Given the description of an element on the screen output the (x, y) to click on. 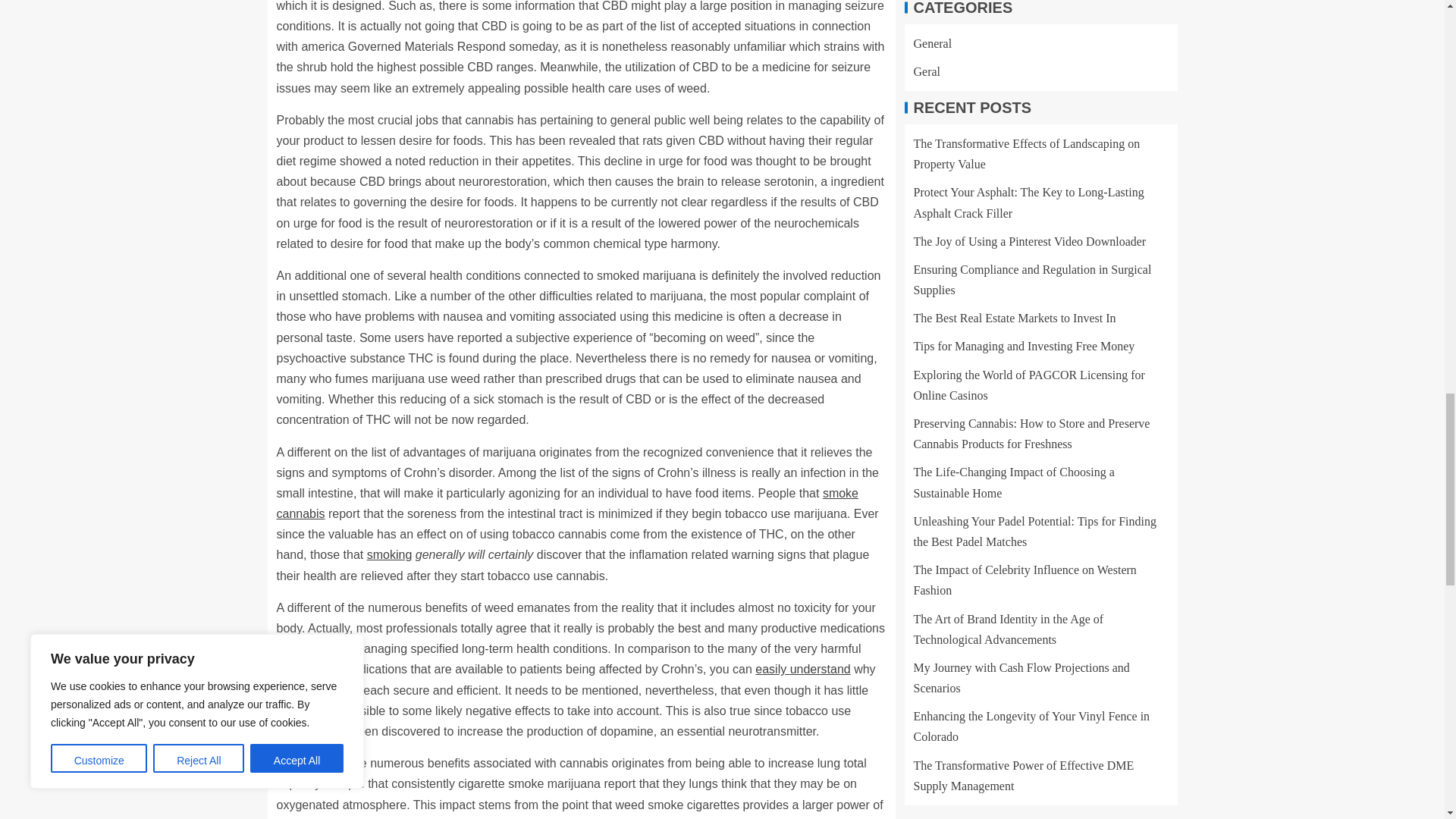
easily understand (802, 668)
smoking (389, 554)
smoke cannabis (567, 503)
